Given the description of an element on the screen output the (x, y) to click on. 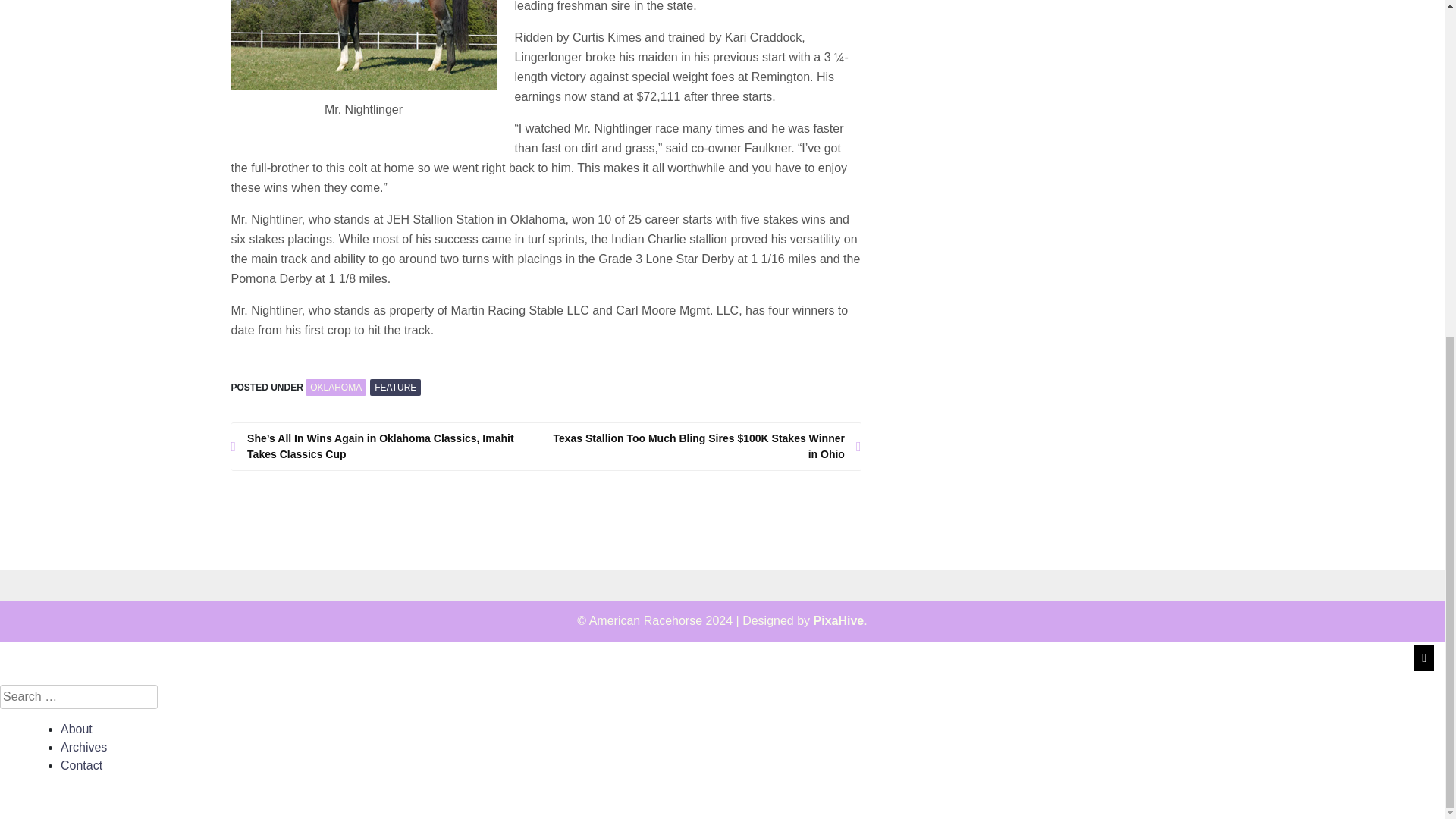
Archives (83, 747)
OKLAHOMA (335, 387)
FEATURE (394, 387)
About (77, 728)
PixaHive (838, 620)
mrnightliner350 (363, 45)
Contact (81, 765)
